Given the description of an element on the screen output the (x, y) to click on. 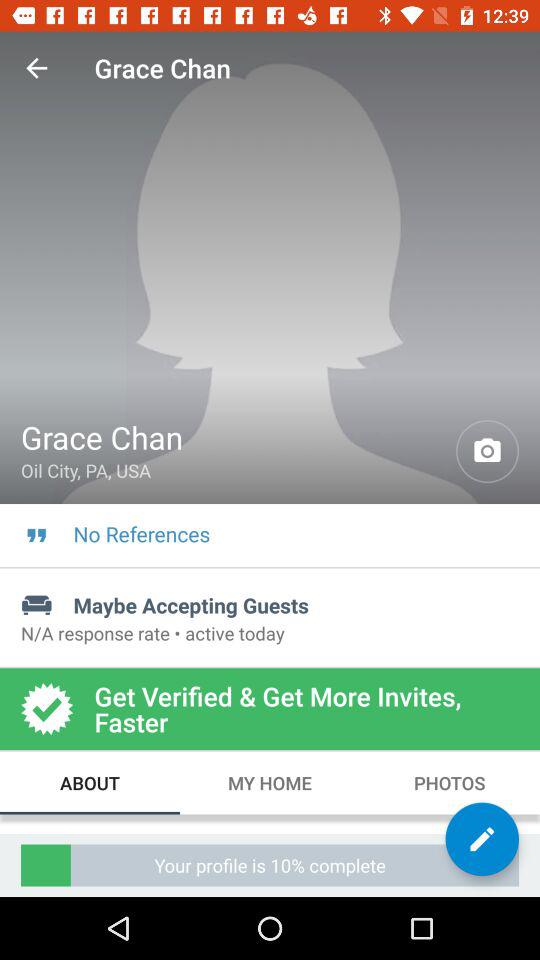
click item next to grace chan (36, 68)
